Given the description of an element on the screen output the (x, y) to click on. 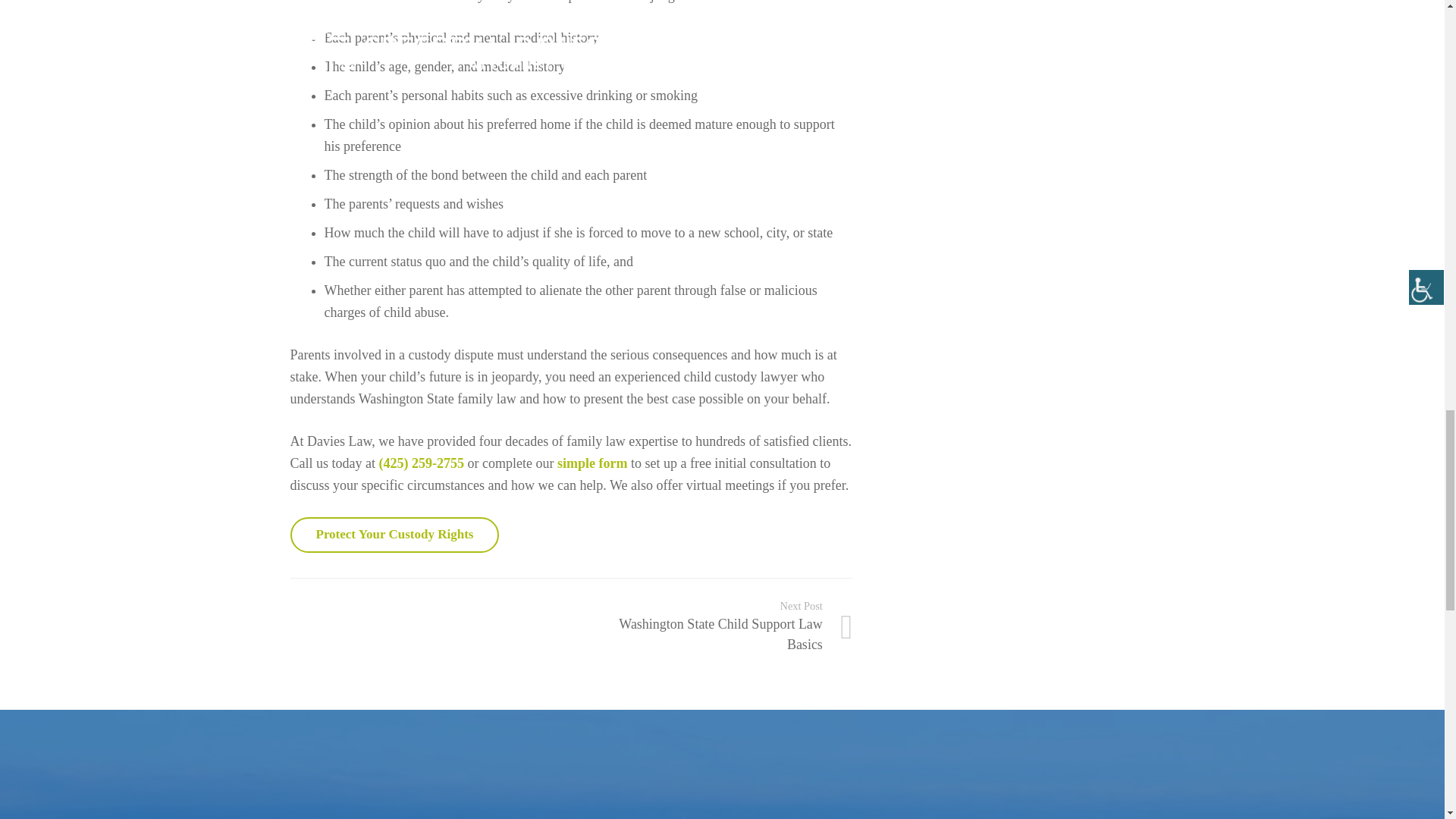
simple form (592, 462)
Washington State Child Support Law Basics (710, 627)
Protect Your Custody Rights (394, 534)
